Given the description of an element on the screen output the (x, y) to click on. 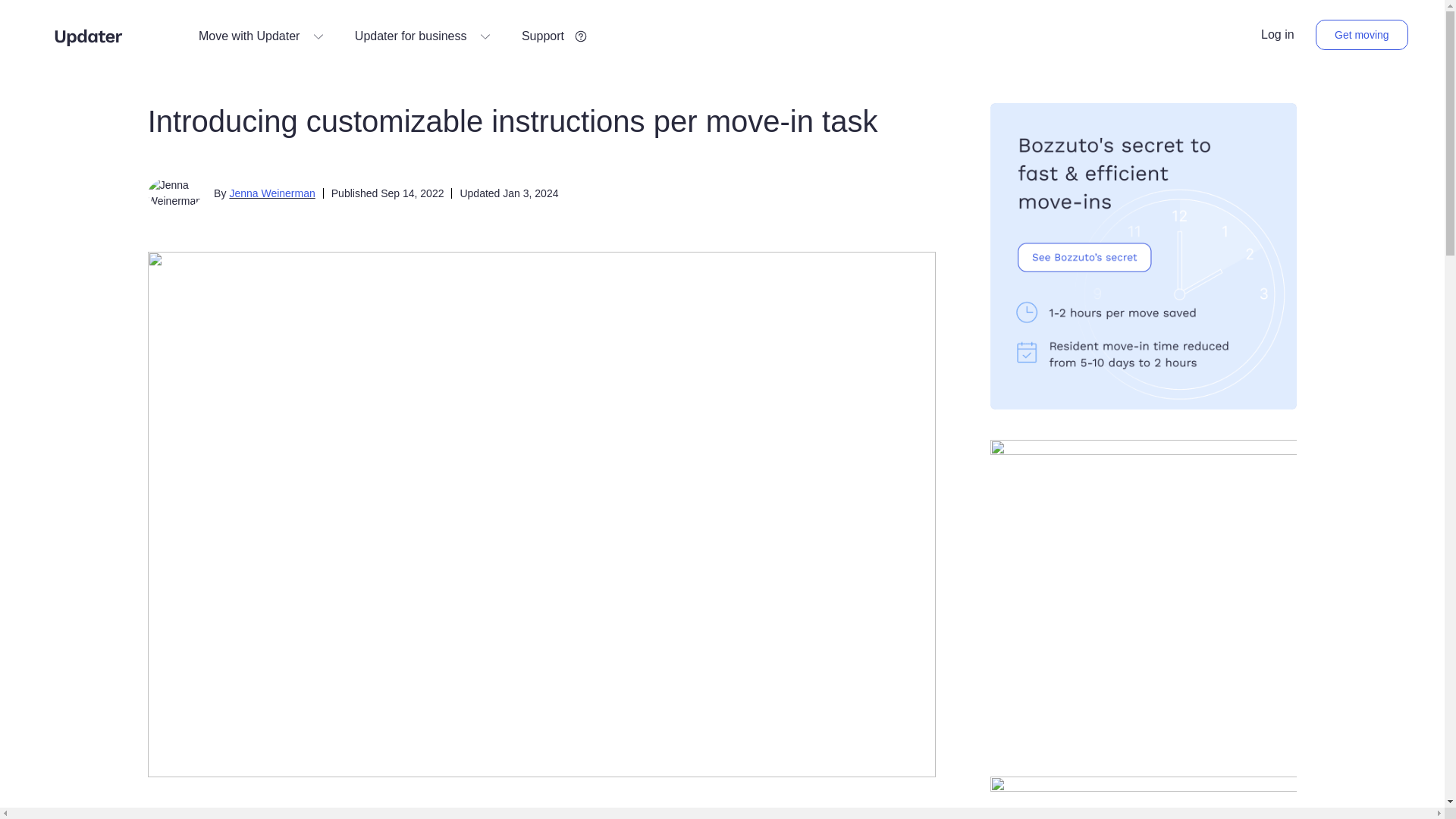
Support (554, 35)
Log in (1277, 34)
Updater for business (422, 36)
Updater (88, 36)
Move with Updater (261, 36)
Get moving (1361, 34)
